Given the description of an element on the screen output the (x, y) to click on. 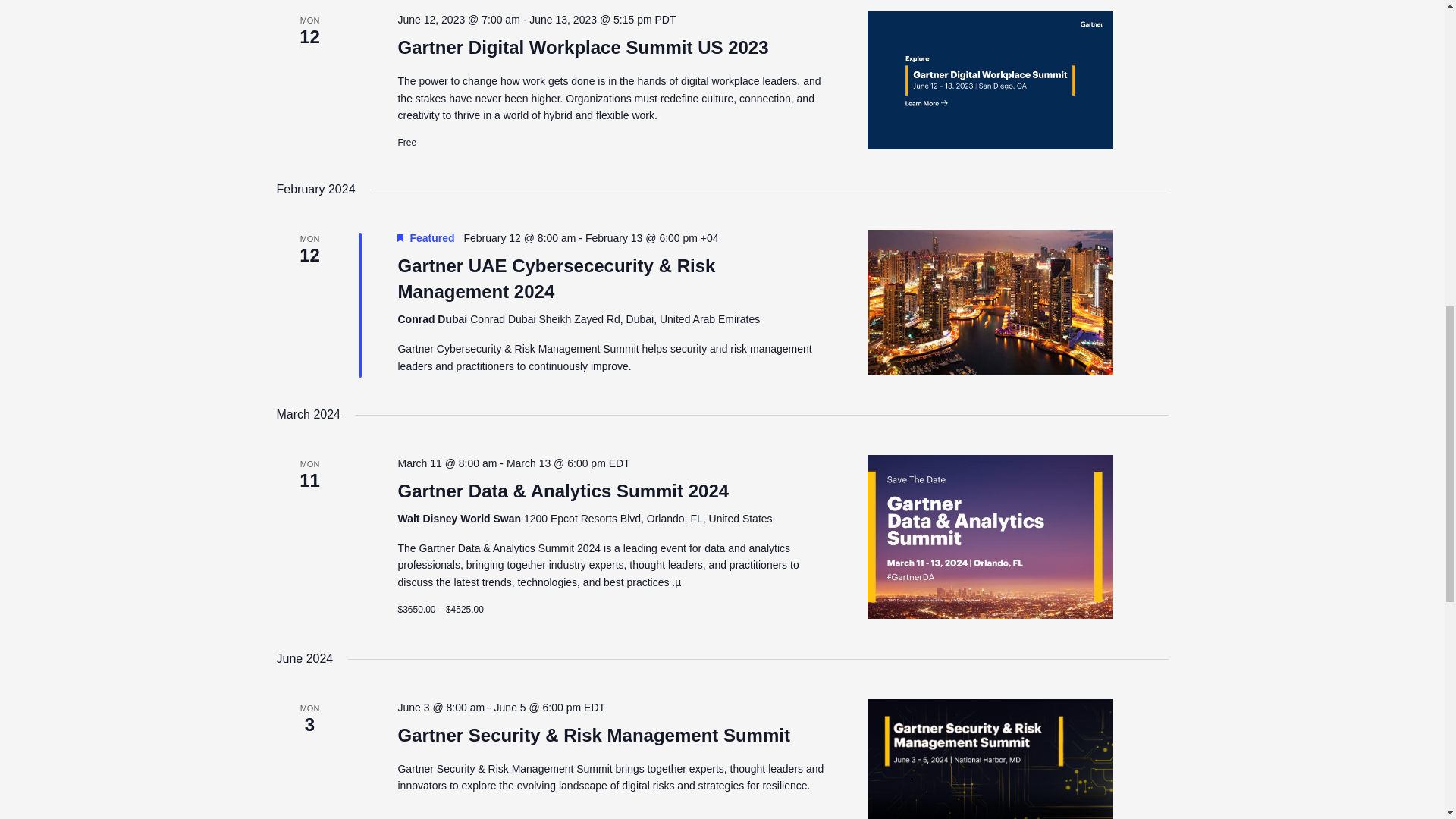
Featured (400, 237)
Gartner Digital Workplace Summit US 2023 (990, 80)
Gartner Digital Workplace Summit US 2023 (582, 47)
